Given the description of an element on the screen output the (x, y) to click on. 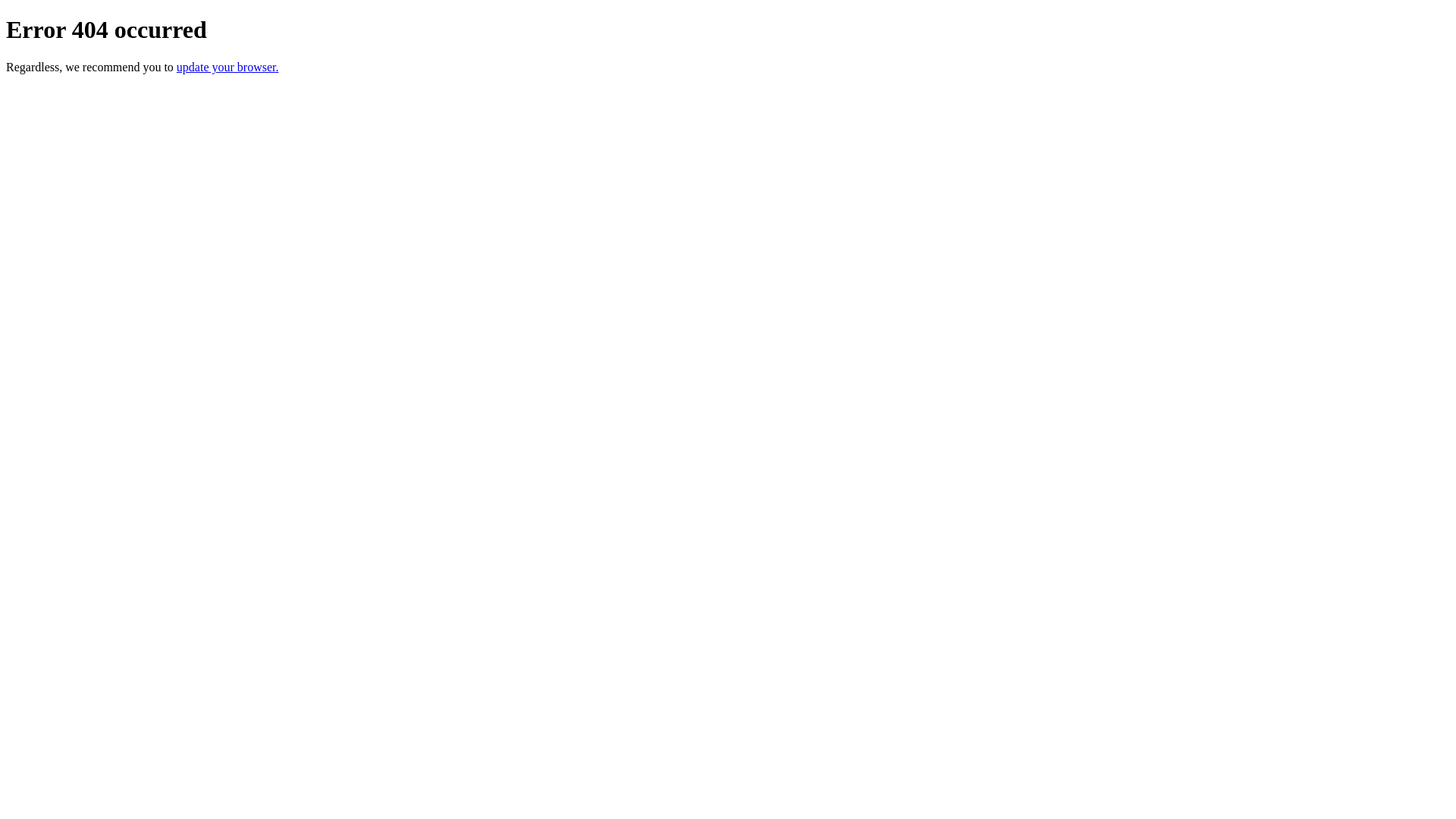
update your browser. Element type: text (227, 66)
